Given the description of an element on the screen output the (x, y) to click on. 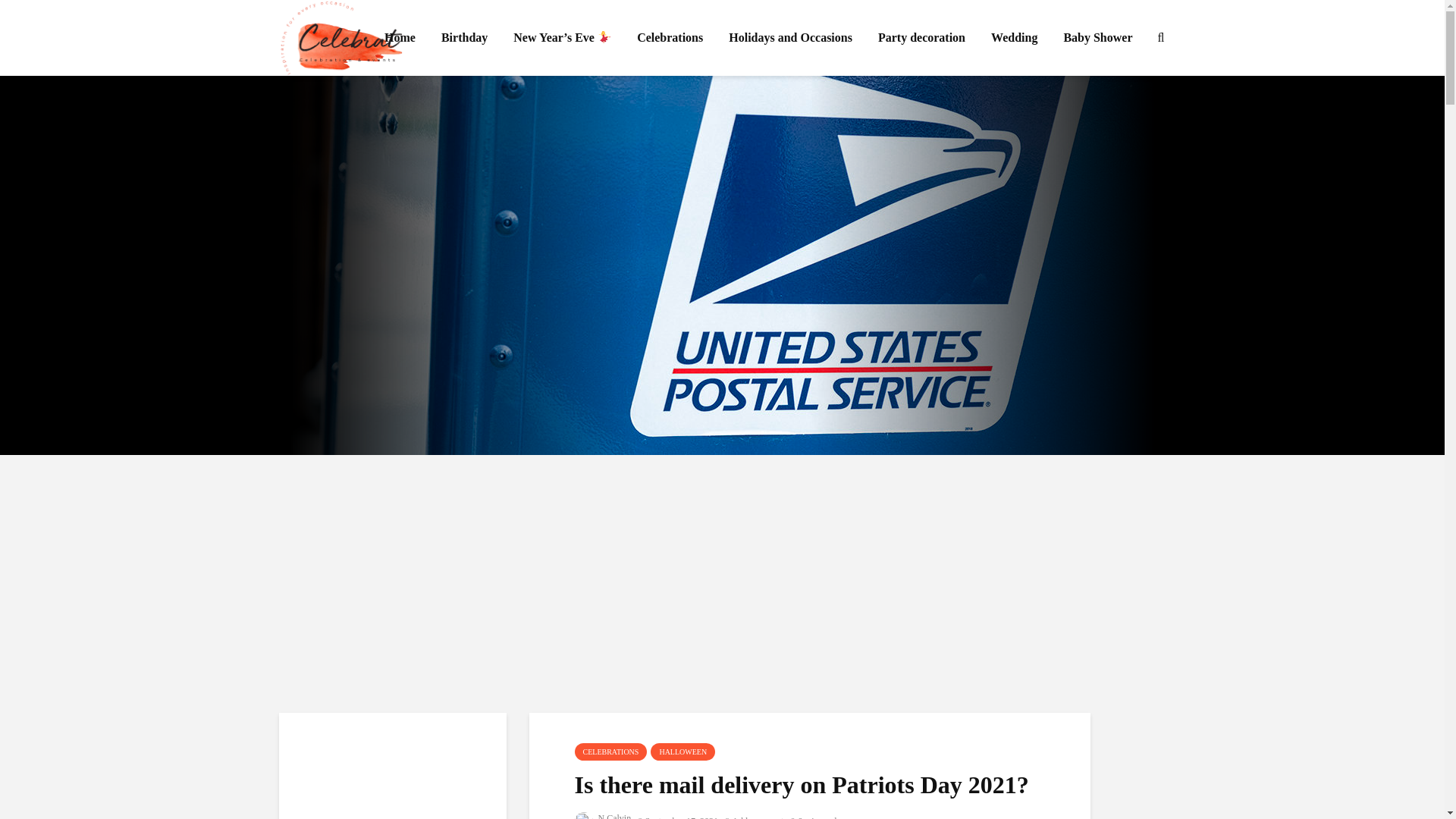
Holidays and Occasions (790, 37)
Home (399, 37)
Advertisement (392, 778)
Celebrations (670, 37)
CELEBRATIONS (611, 751)
Baby Shower (1096, 37)
HALLOWEEN (682, 751)
Party decoration (921, 37)
Birthday (464, 37)
